Given the description of an element on the screen output the (x, y) to click on. 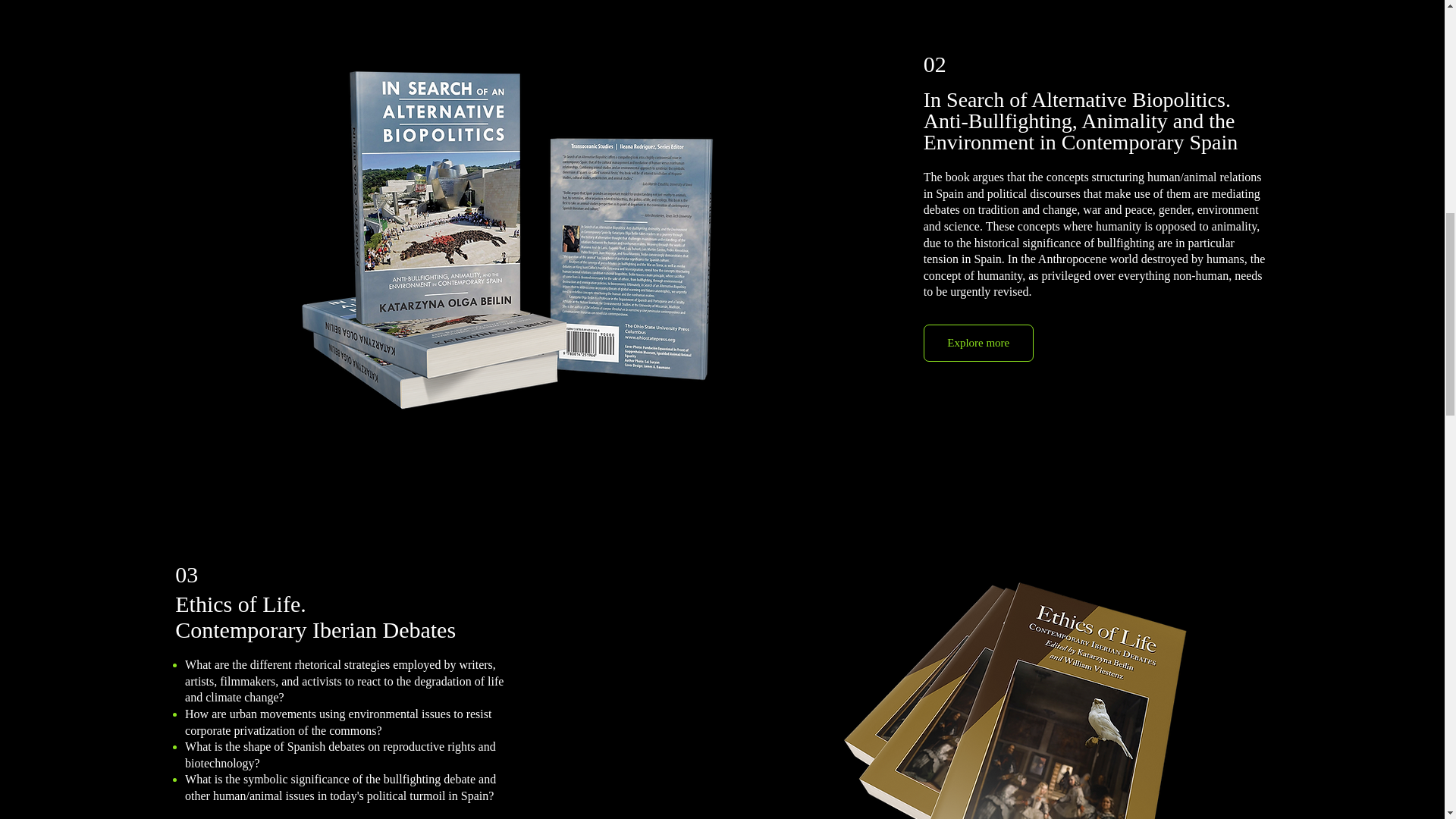
Explore more (978, 342)
